Given the description of an element on the screen output the (x, y) to click on. 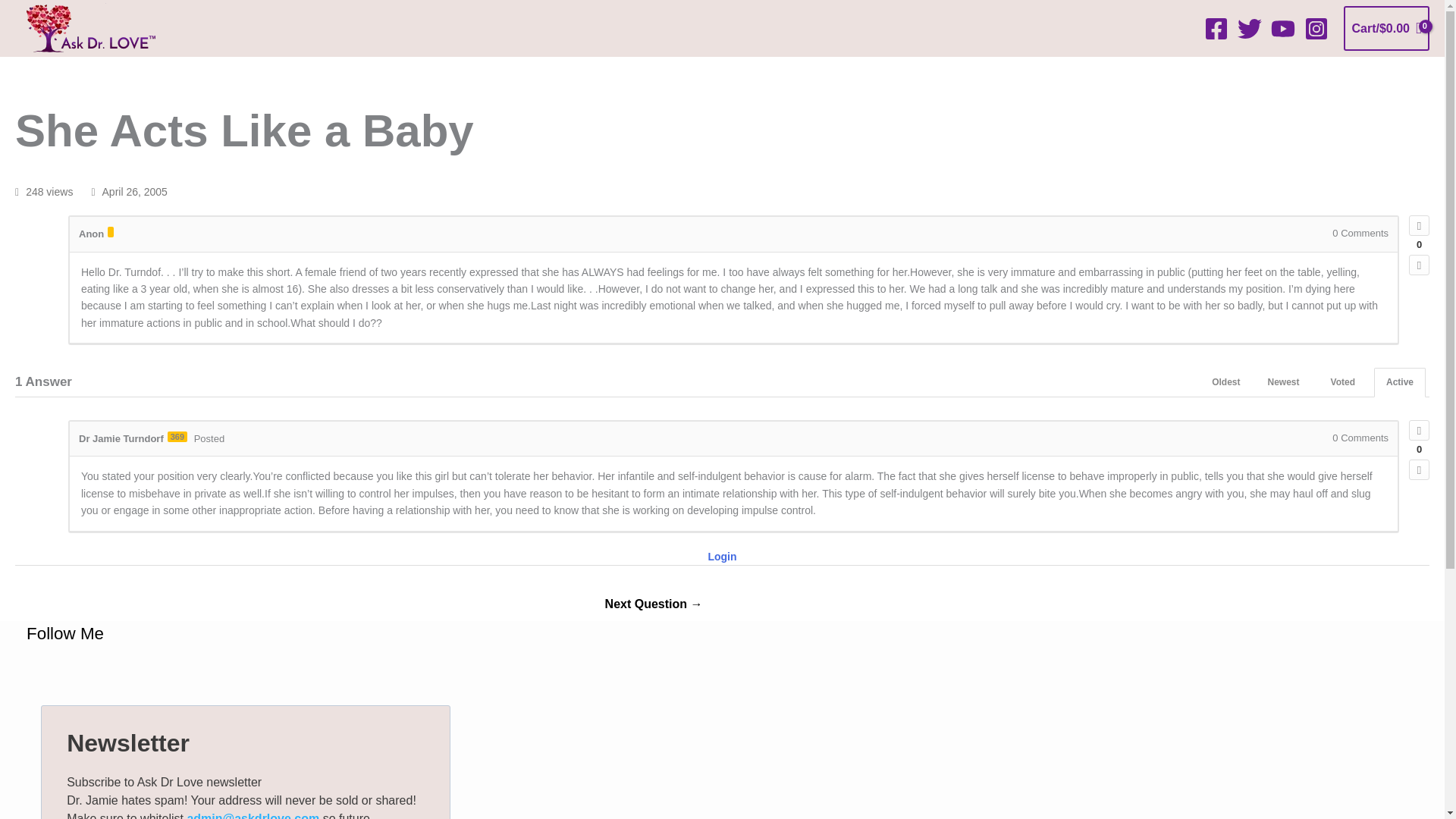
Products and Services (907, 72)
Down vote this answer (1419, 469)
Up vote this answer (1419, 430)
Up vote this question (1419, 225)
Anon (90, 233)
Active (1399, 382)
Podcast (319, 72)
My Account (1089, 72)
Shows (703, 72)
Live Events (511, 72)
